Given the description of an element on the screen output the (x, y) to click on. 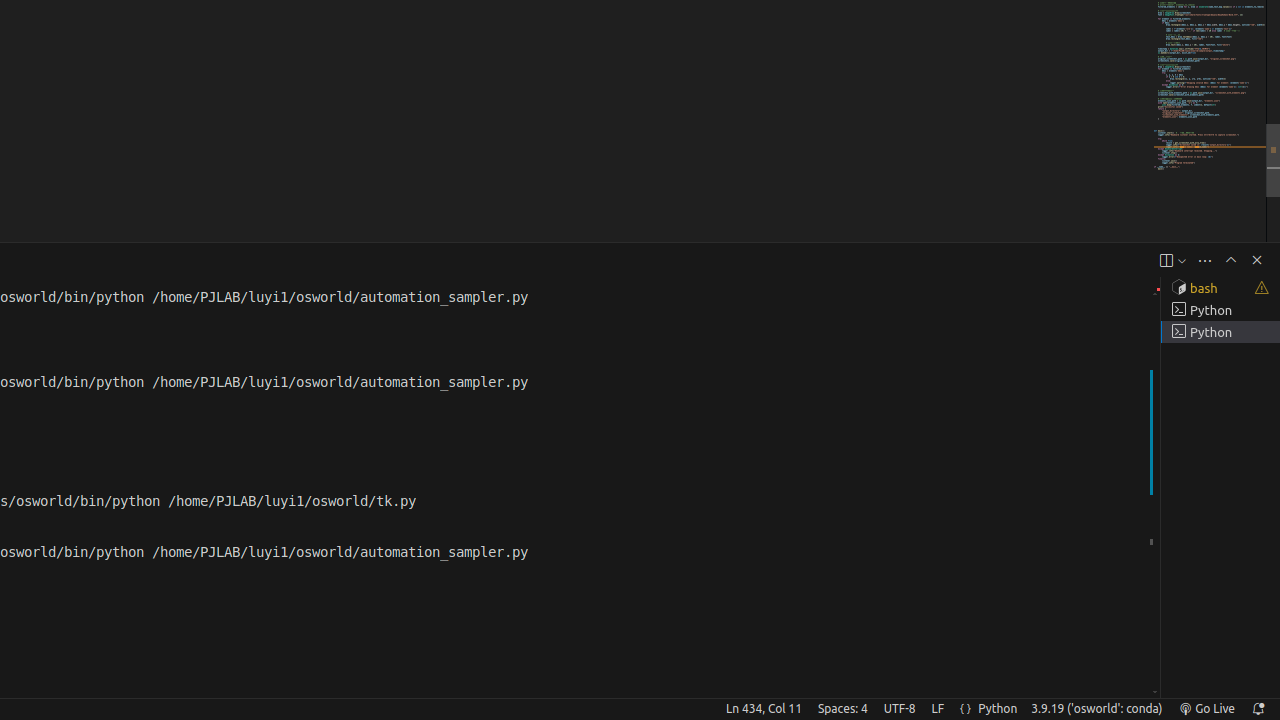
Ln 434, Col 11 Element type: push-button (764, 709)
Maximize Panel Size Element type: check-box (1231, 260)
Launch Profile... Element type: push-button (1182, 260)
Editor Language Status: Auto Import Completions: false, next: Type Checking: off Element type: push-button (965, 709)
Notifications Element type: push-button (1258, 709)
